Given the description of an element on the screen output the (x, y) to click on. 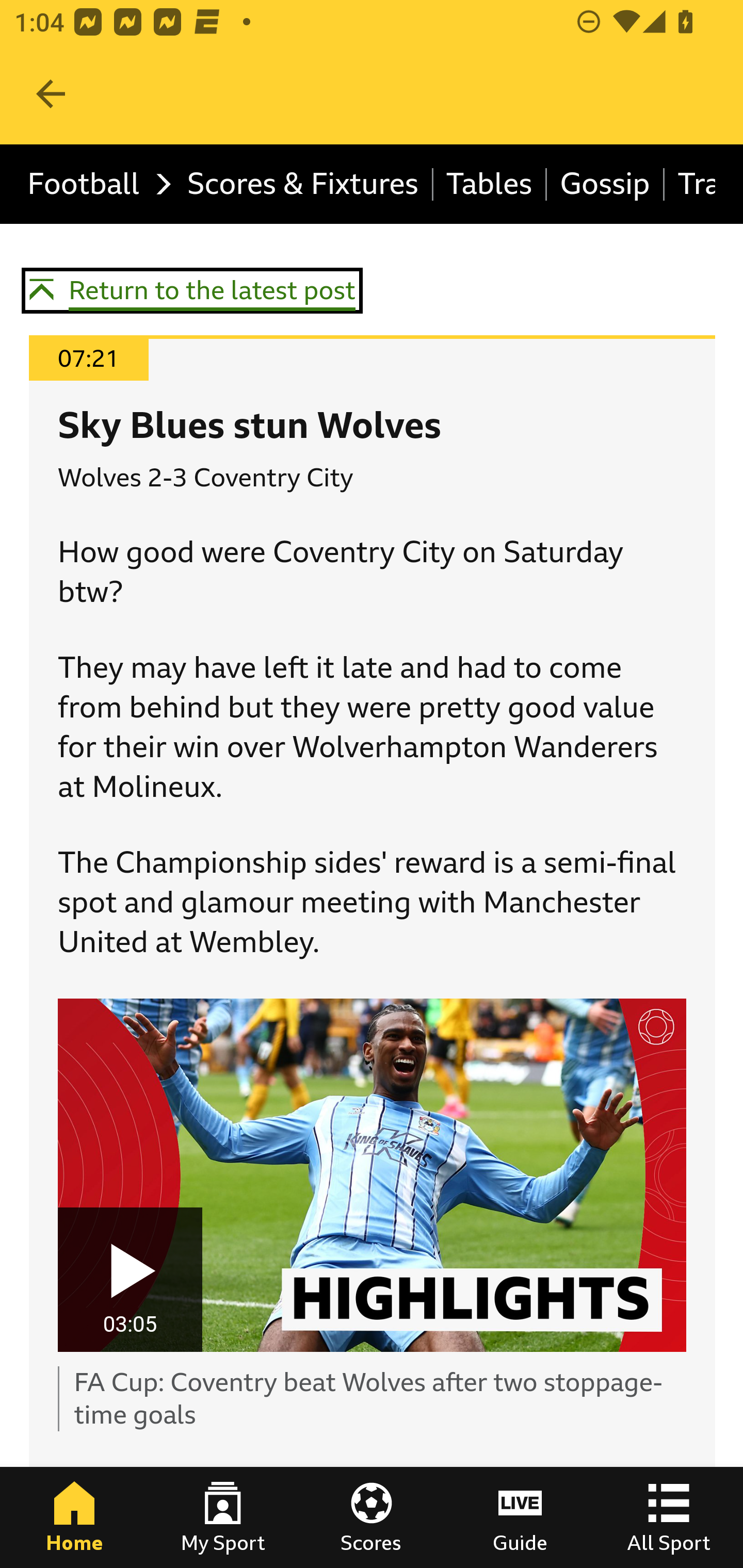
Navigate up (50, 93)
My Sport (222, 1517)
Scores (371, 1517)
Guide (519, 1517)
All Sport (668, 1517)
